Given the description of an element on the screen output the (x, y) to click on. 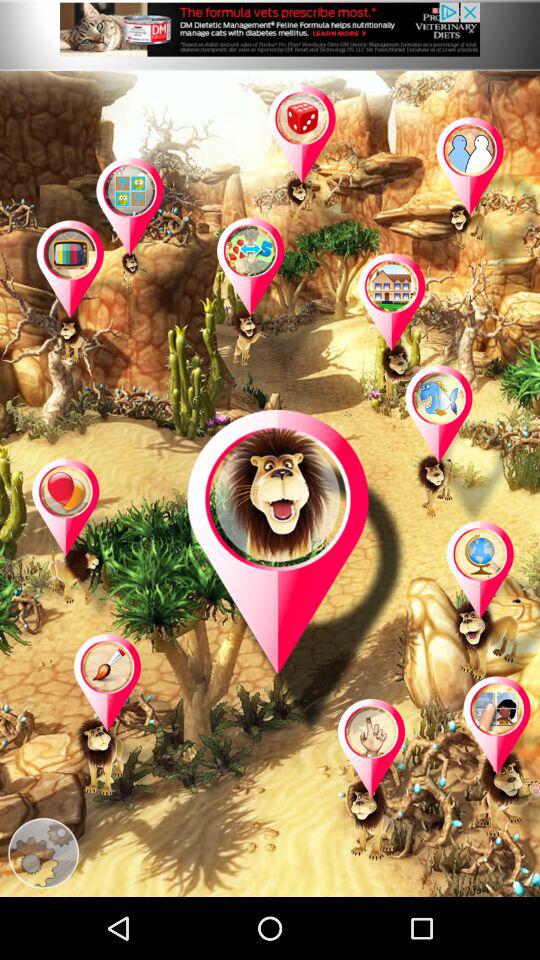
open settings (43, 853)
